Given the description of an element on the screen output the (x, y) to click on. 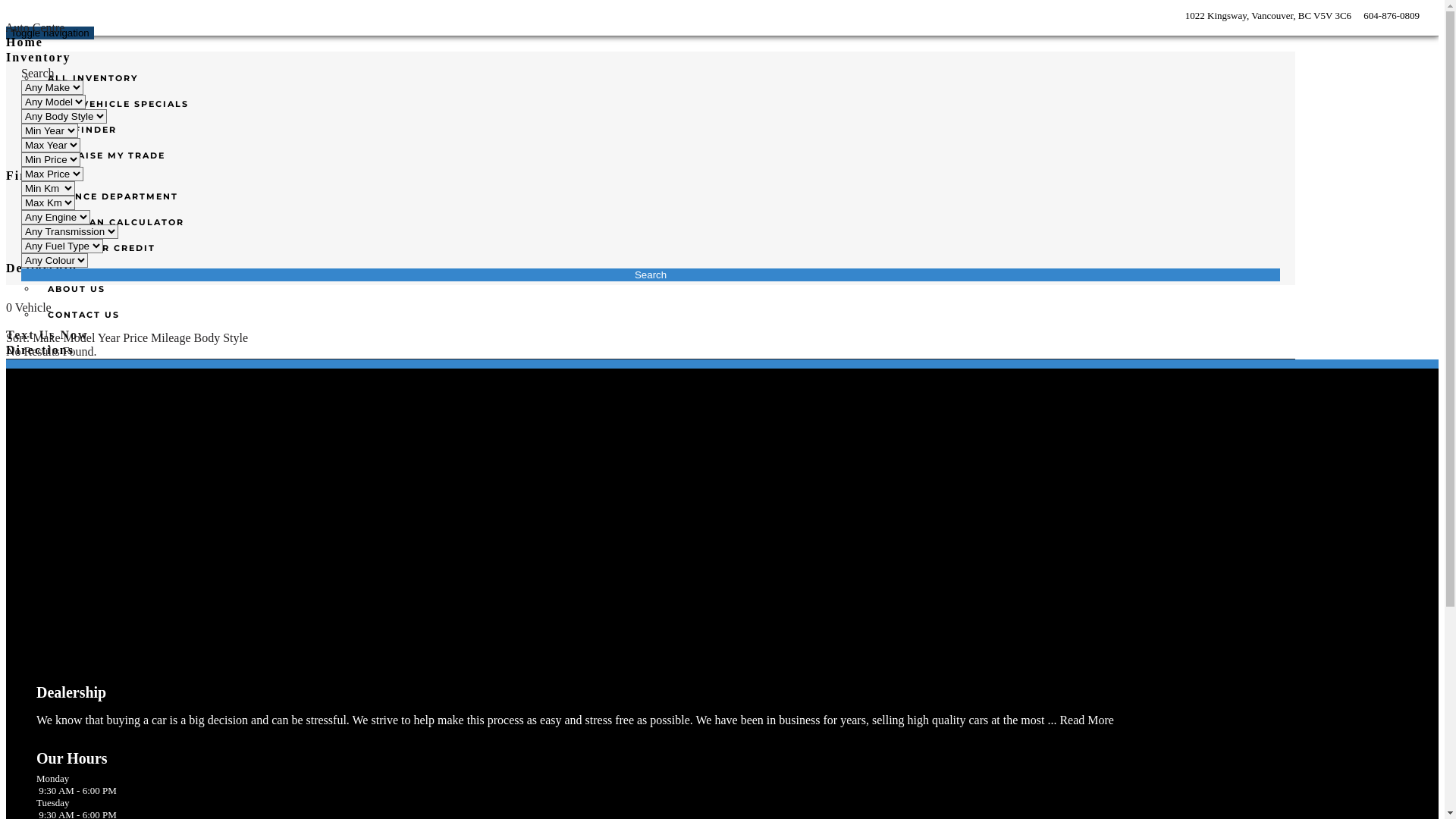
Dealership Element type: text (41, 267)
Directions Element type: text (40, 349)
 604-876-0809 Element type: text (1390, 15)
  1022 Kingsway, Vancouver, BC V5V 3C6 Element type: text (1266, 15)
Financing Element type: text (38, 175)
Price Element type: text (136, 337)
Search Element type: text (37, 72)
Year Element type: text (109, 337)
Mileage Element type: text (171, 337)
Make Element type: text (47, 337)
Body Style Element type: text (221, 337)
Home Element type: text (24, 41)
Model Element type: text (80, 337)
Inventory Element type: text (38, 56)
Text Us Now Element type: text (47, 334)
Search Element type: text (650, 274)
Toggle navigation Element type: text (50, 32)
Read More Element type: text (1086, 719)
